Given the description of an element on the screen output the (x, y) to click on. 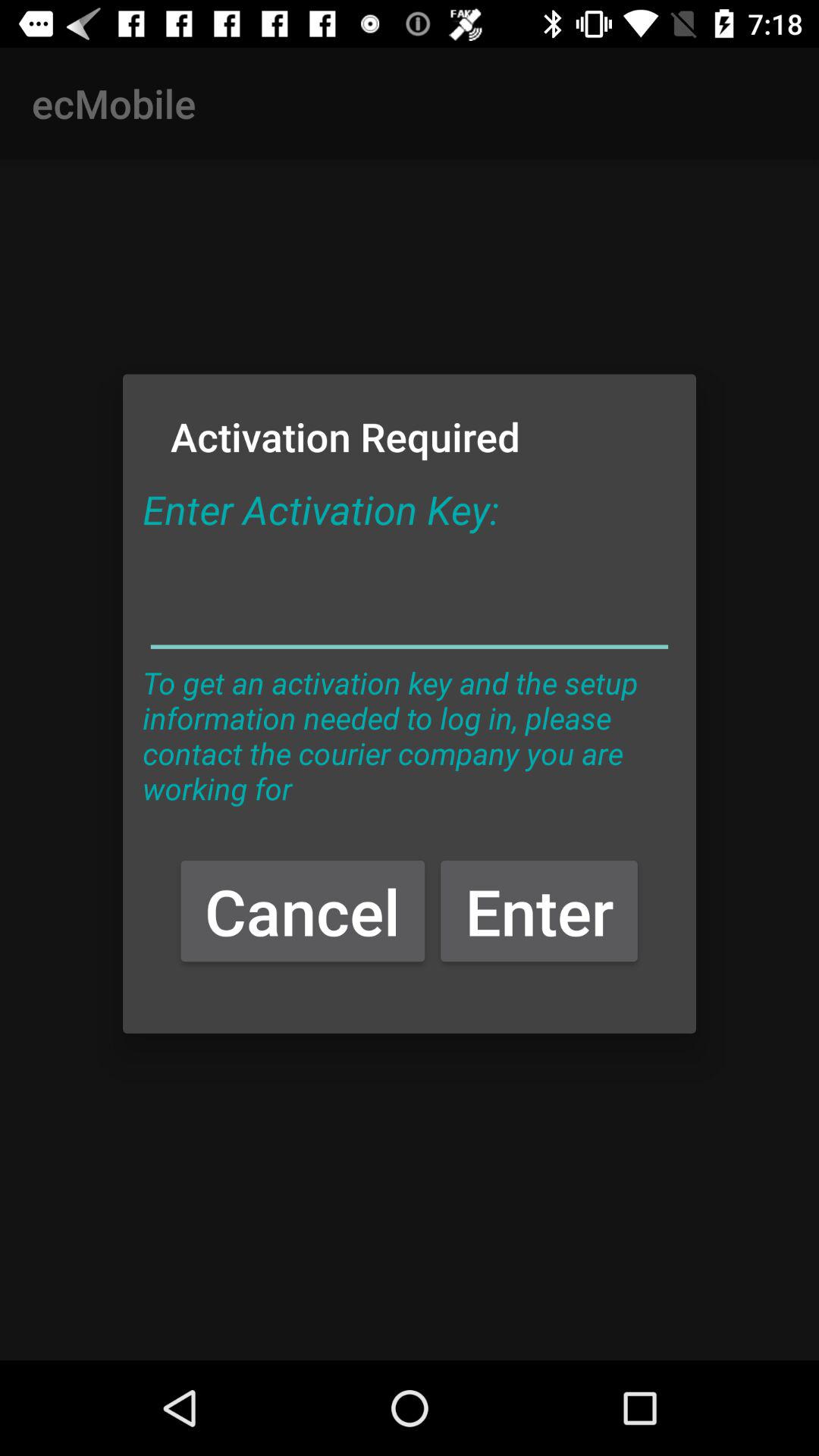
launch the item below the to get an icon (302, 910)
